Given the description of an element on the screen output the (x, y) to click on. 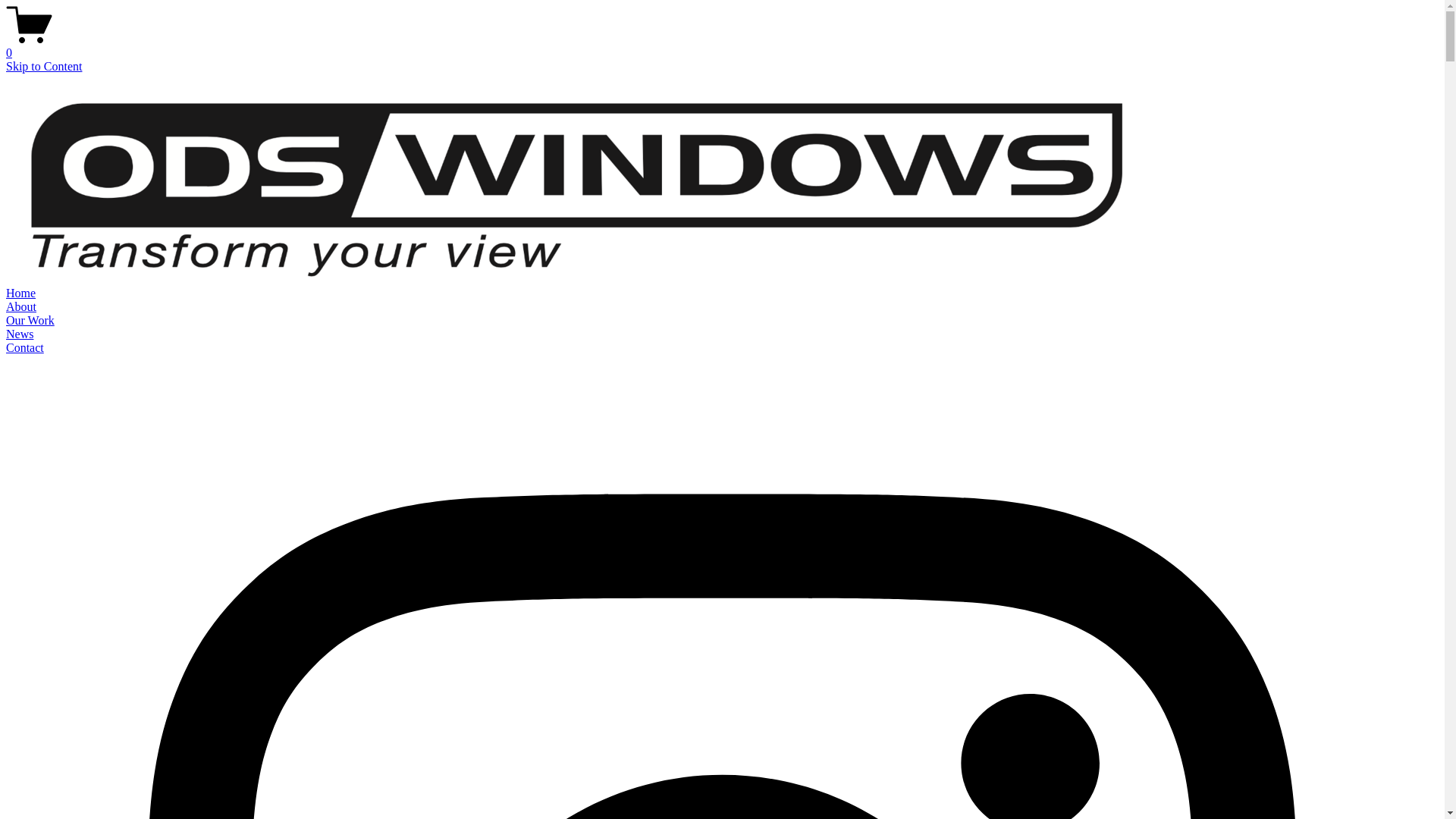
Skip to Content Element type: text (43, 65)
Home Element type: text (20, 292)
News Element type: text (19, 333)
Contact Element type: text (24, 347)
Our Work Element type: text (30, 319)
0 Element type: text (722, 45)
About Element type: text (21, 306)
